Given the description of an element on the screen output the (x, y) to click on. 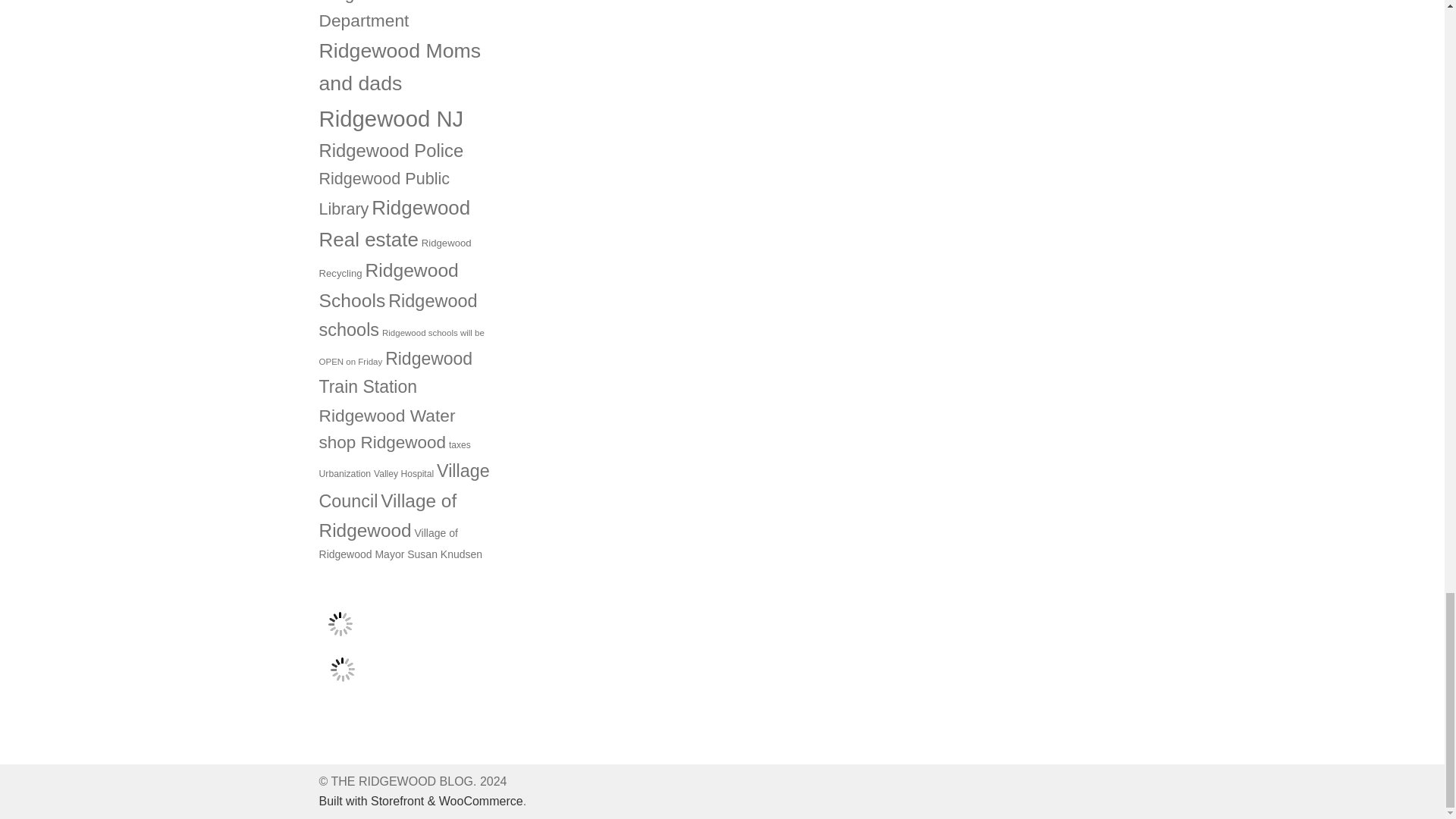
WooCommerce - The Best eCommerce Platform for WordPress (420, 800)
